Given the description of an element on the screen output the (x, y) to click on. 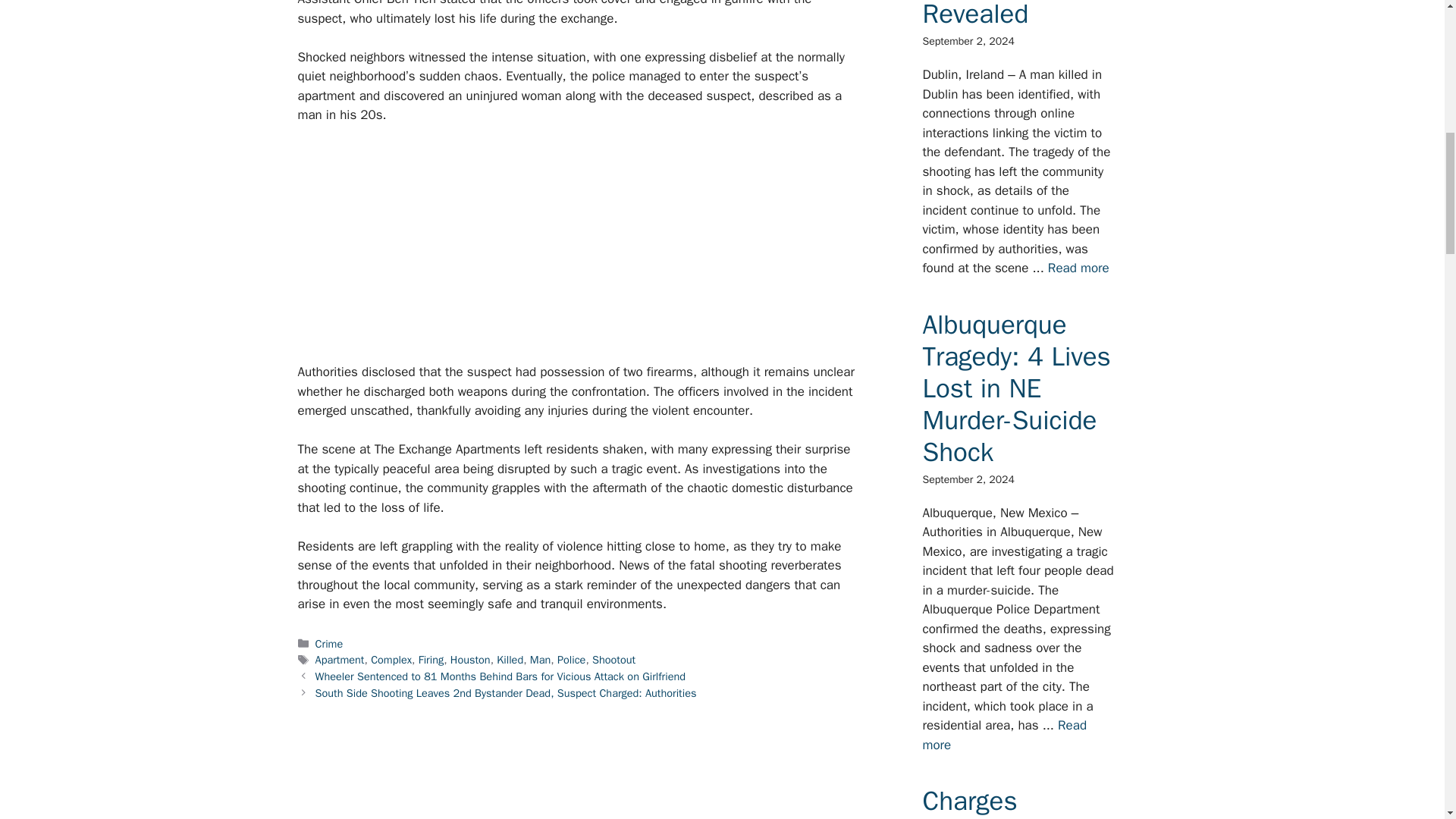
Apartment (340, 659)
Police (571, 659)
Crime (329, 643)
Albuquerque Tragedy: 4 Lives Lost in NE Murder-Suicide Shock (1015, 387)
Firing (431, 659)
Albuquerque Tragedy: 4 Lives Lost in NE Murder-Suicide Shock (1003, 734)
Read more (1003, 734)
